Given the description of an element on the screen output the (x, y) to click on. 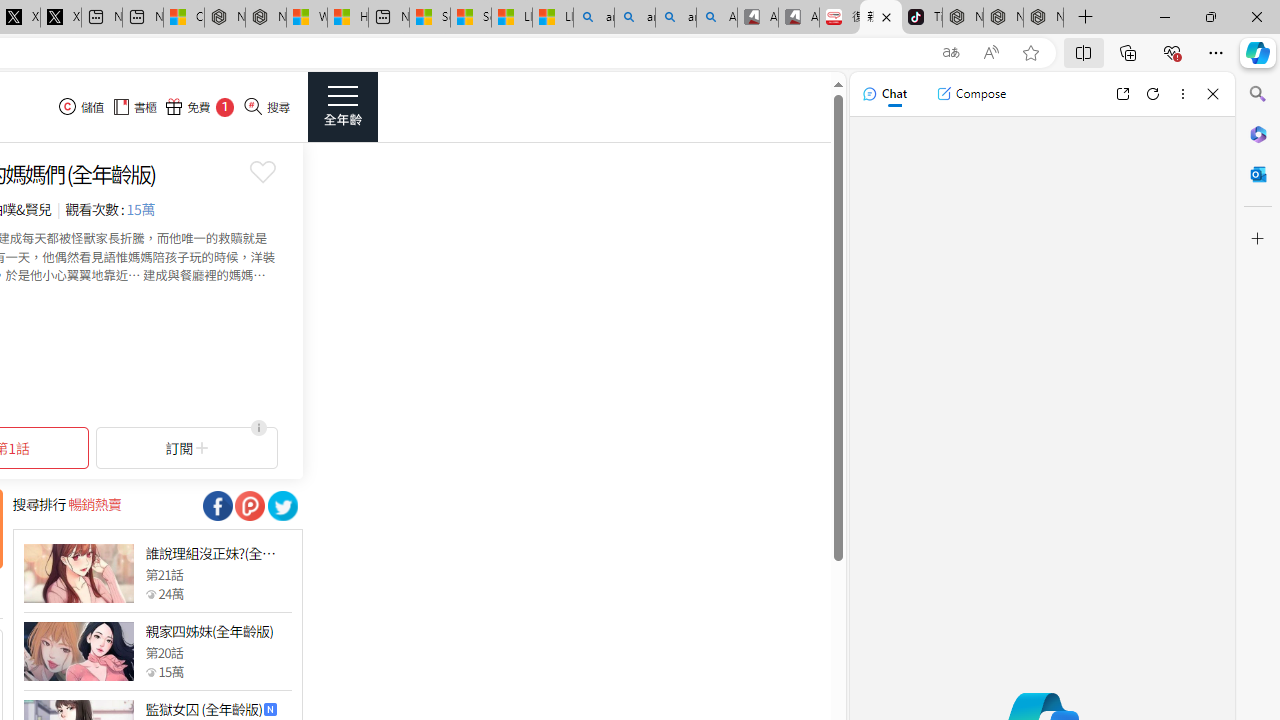
Class: side_menu_btn actionRightMenuBtn (342, 106)
Nordace - Best Sellers (963, 17)
TikTok (922, 17)
